Given the description of an element on the screen output the (x, y) to click on. 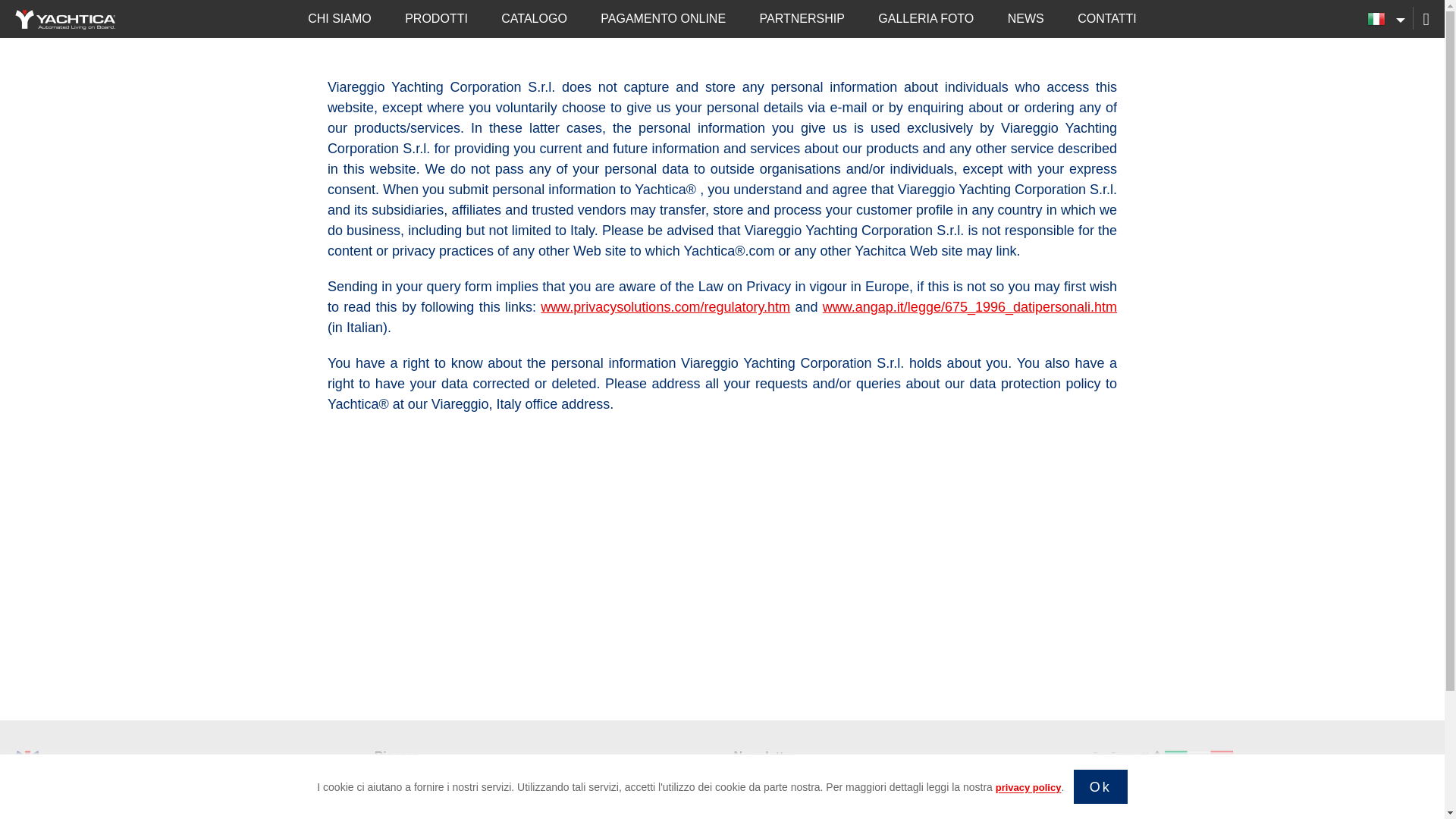
CHI SIAMO (339, 23)
PAGAMENTO ONLINE (662, 23)
GALLERIA FOTO (925, 23)
PARTNERSHIP (802, 23)
NEWS (1025, 23)
PRODOTTI (435, 23)
CONTATTI (1107, 23)
CATALOGO (533, 23)
